Given the description of an element on the screen output the (x, y) to click on. 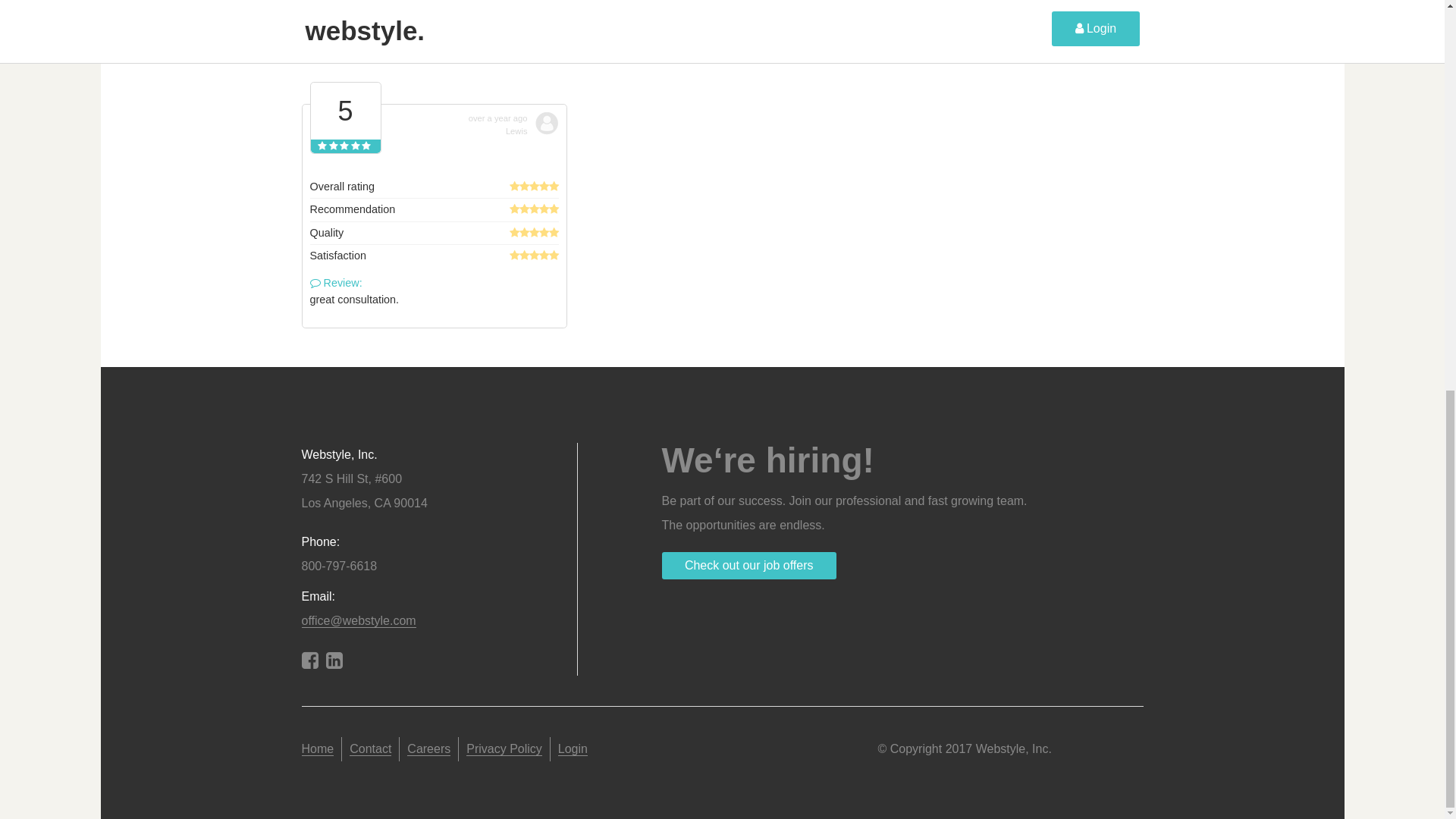
Quality (823, 25)
Career by Webstyle (748, 565)
Privacy Policy (503, 748)
Privacy Policy (503, 748)
Quality (823, 25)
Follow us on facebook (309, 662)
Get in Touch (370, 748)
Link to linkin (334, 662)
Careers (428, 748)
Individual websolutions customized for your needs (317, 748)
Check out our job offers (748, 565)
Ken Mason Tile (1009, 11)
Login (572, 748)
Home (317, 748)
Careers (428, 748)
